Given the description of an element on the screen output the (x, y) to click on. 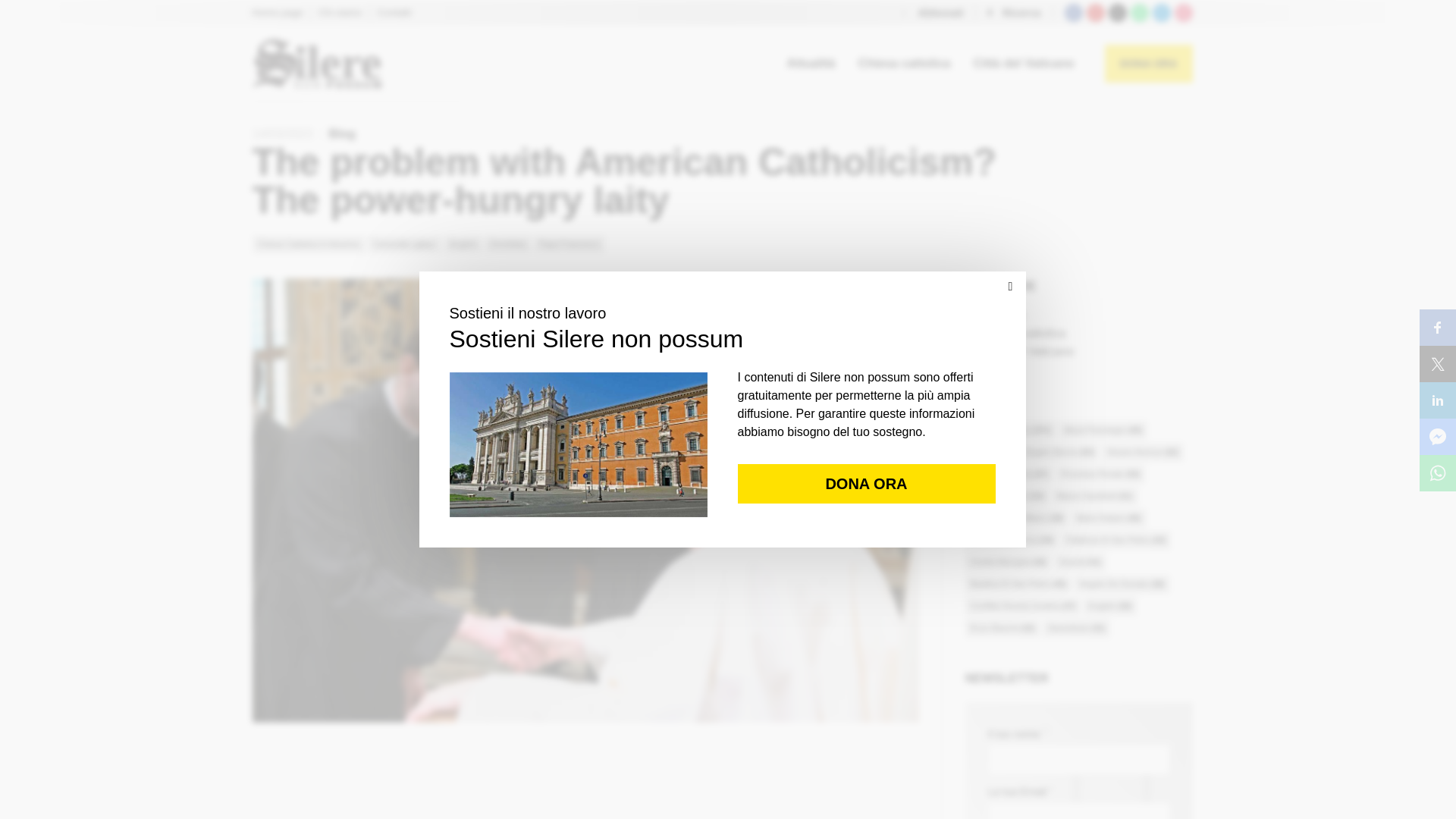
Chi siamo (340, 12)
Papa Francesco (569, 244)
Contatti (394, 12)
Ricerca (1014, 12)
Home page (276, 12)
Chiesa cattolica (904, 63)
DONA ORA (1148, 63)
Omofobia (507, 244)
Chiesa Cattolica In America (308, 244)
English (462, 244)
Abbonati (932, 12)
Blog (342, 133)
